Given the description of an element on the screen output the (x, y) to click on. 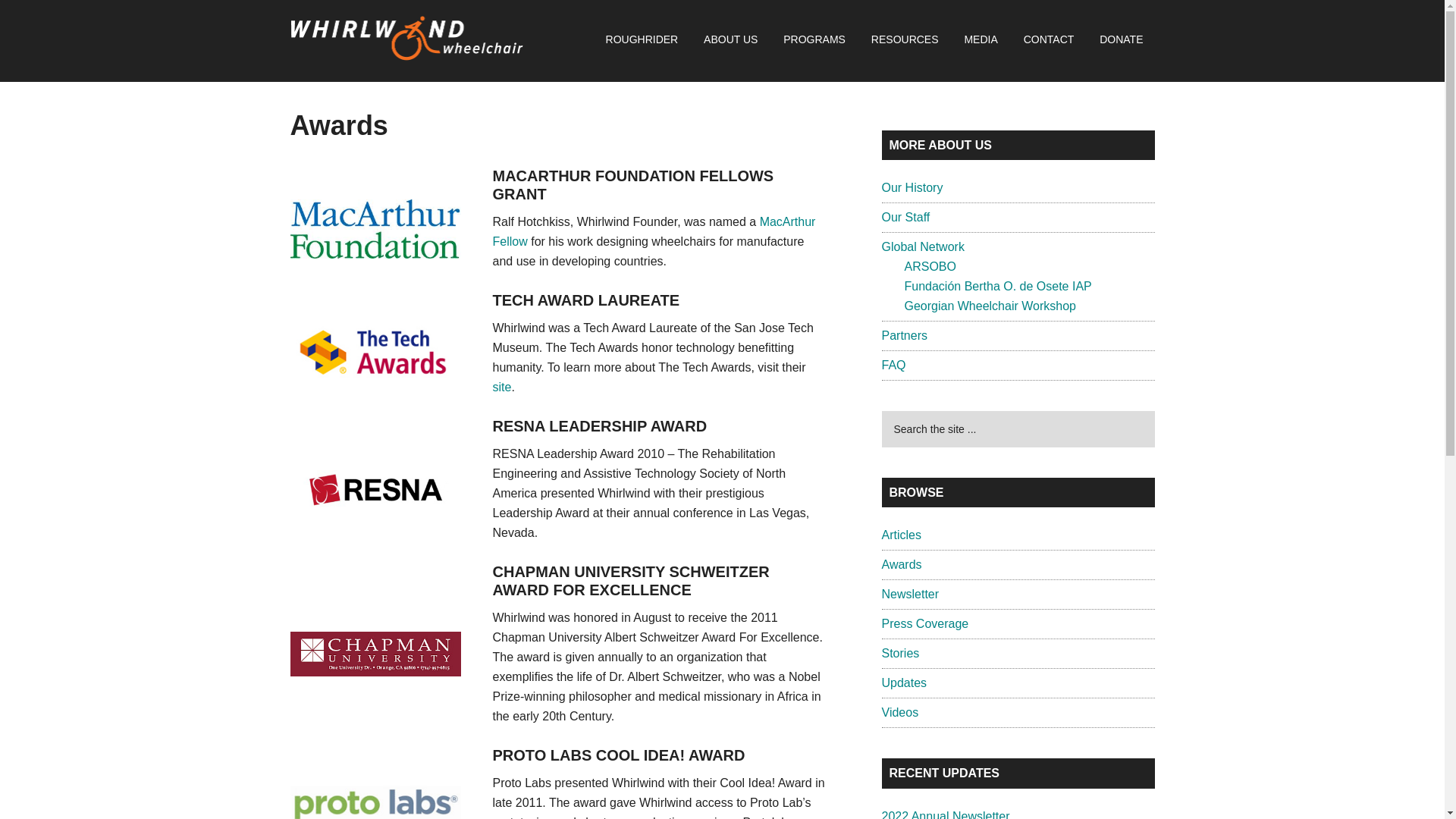
site (502, 386)
Our History (911, 187)
Georgian Wheelchair Workshop (989, 305)
DONATE (1120, 39)
Our Staff (905, 216)
Awards (900, 563)
Press Coverage (924, 623)
MEDIA (980, 39)
